Given the description of an element on the screen output the (x, y) to click on. 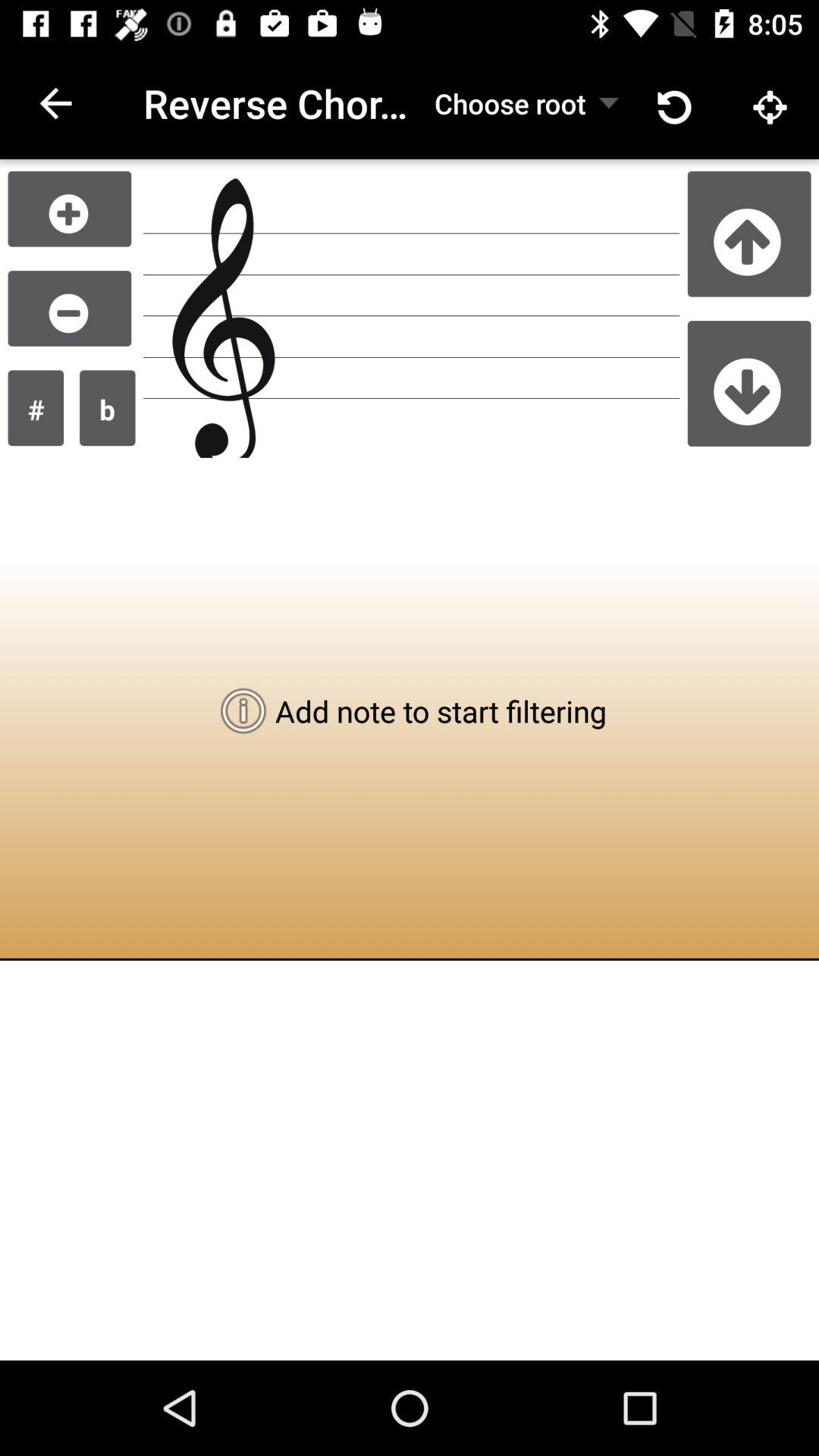
turn off icon next to reverse chord lookup icon (55, 103)
